Given the description of an element on the screen output the (x, y) to click on. 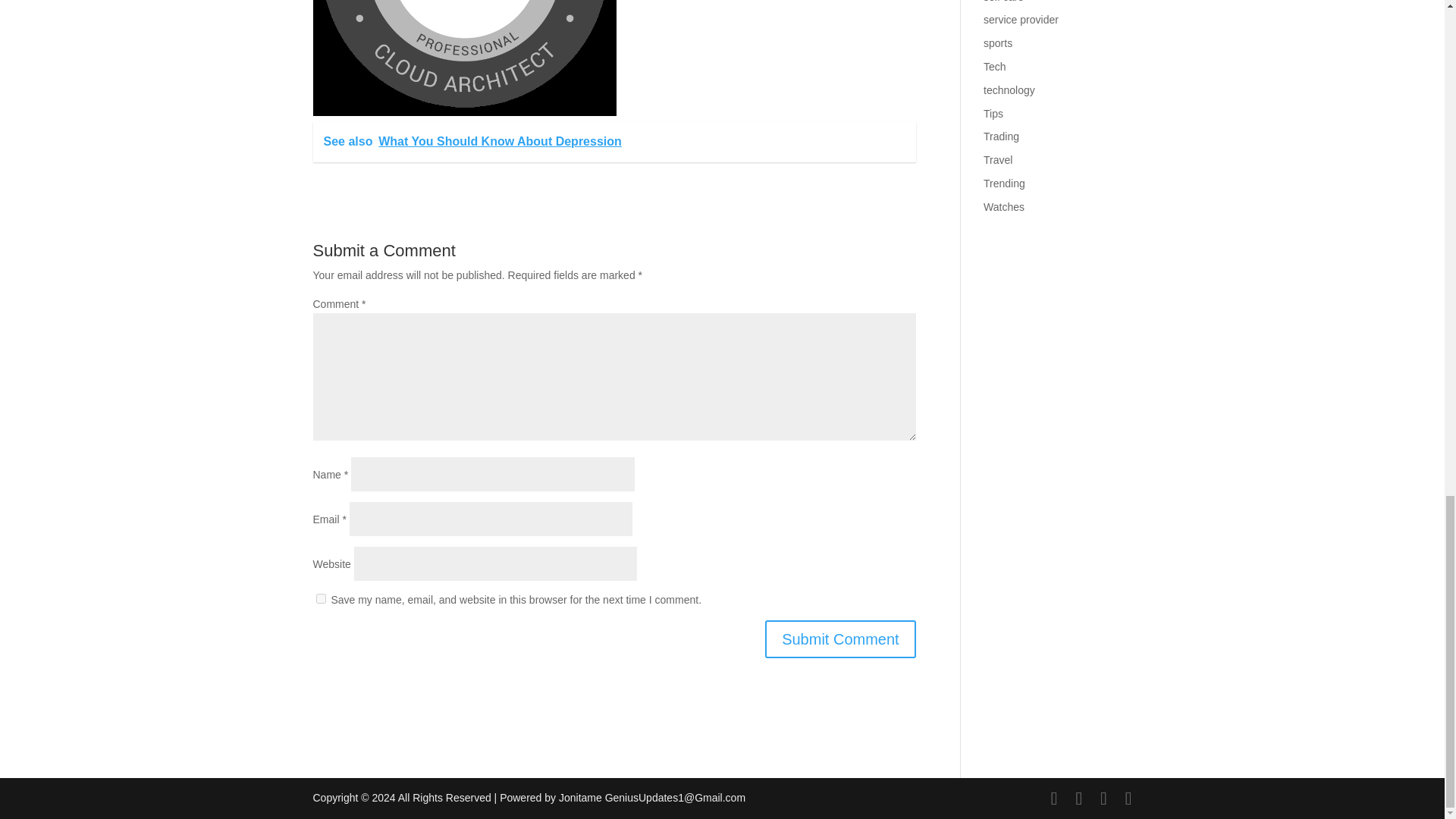
Submit Comment (840, 638)
Submit Comment (840, 638)
yes (319, 598)
See also  What You Should Know About Depression (614, 142)
Image The Advantages of Becoming a GCP Architect 1 (464, 58)
